Given the description of an element on the screen output the (x, y) to click on. 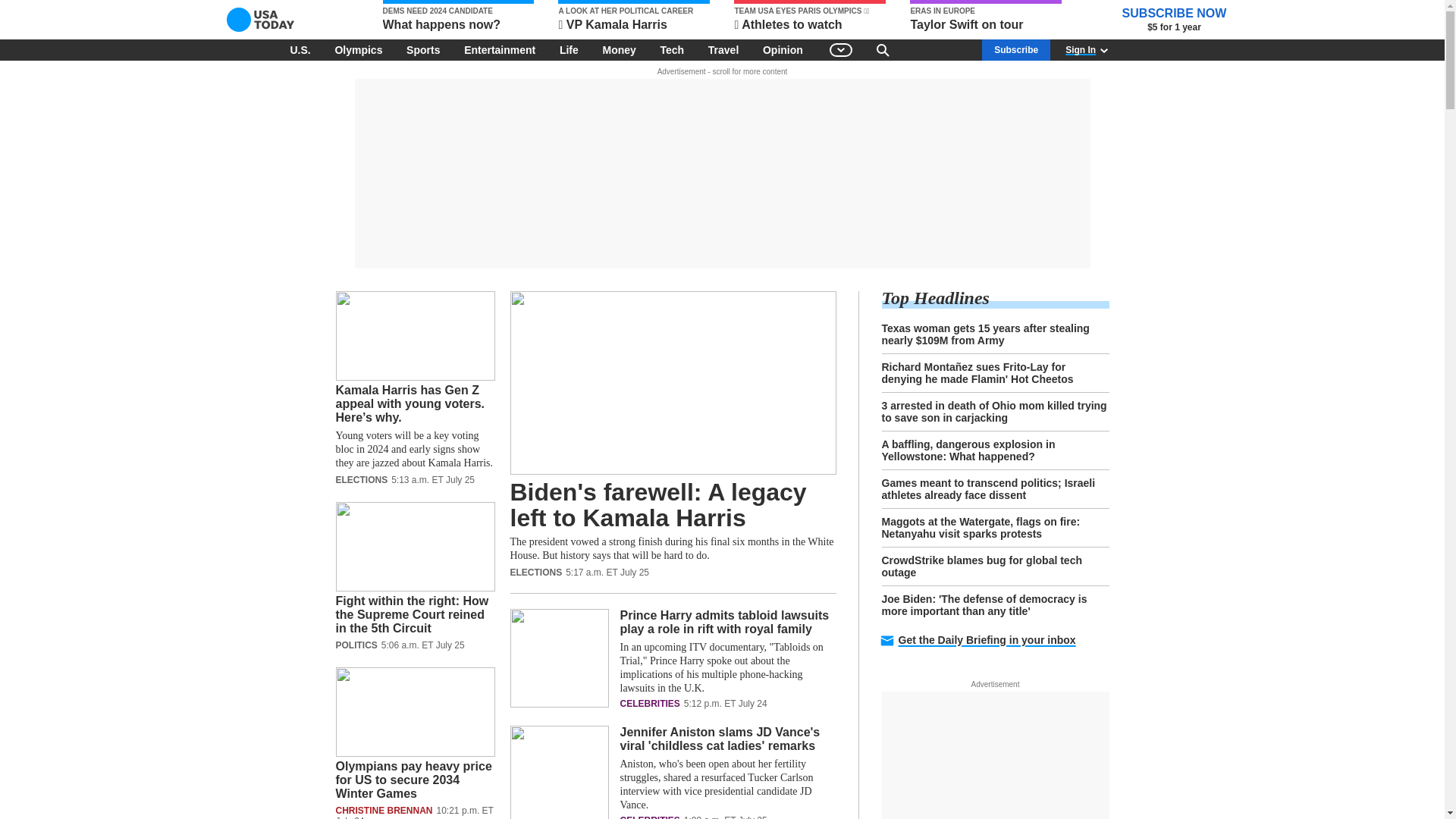
Olympics (358, 49)
What happens now? (457, 17)
Opinion (782, 49)
Travel (722, 49)
Tech (671, 49)
Taylor Swift on tour (985, 17)
U.S. (299, 49)
Money (618, 49)
Search (882, 49)
Sports (422, 49)
Life (568, 49)
Entertainment (500, 49)
